Given the description of an element on the screen output the (x, y) to click on. 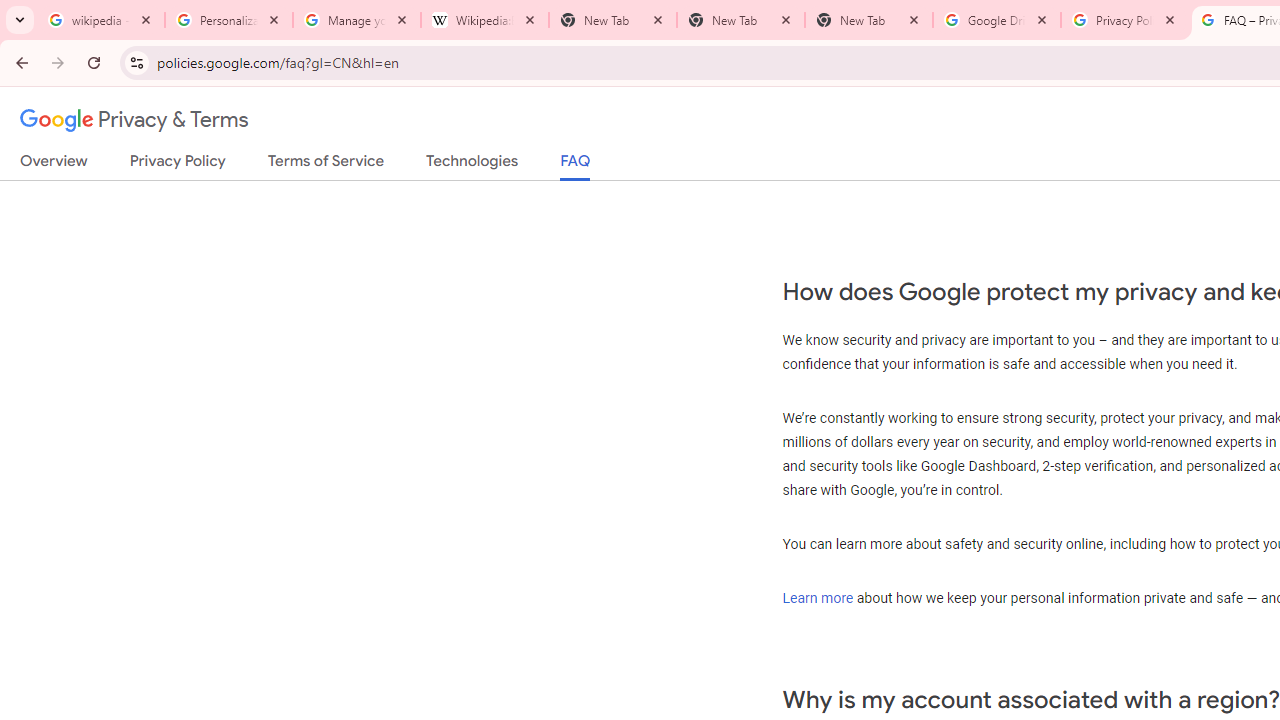
Wikipedia:Edit requests - Wikipedia (485, 20)
Manage your Location History - Google Search Help (357, 20)
Google Drive: Sign-in (997, 20)
New Tab (869, 20)
Personalization & Google Search results - Google Search Help (229, 20)
New Tab (741, 20)
